Given the description of an element on the screen output the (x, y) to click on. 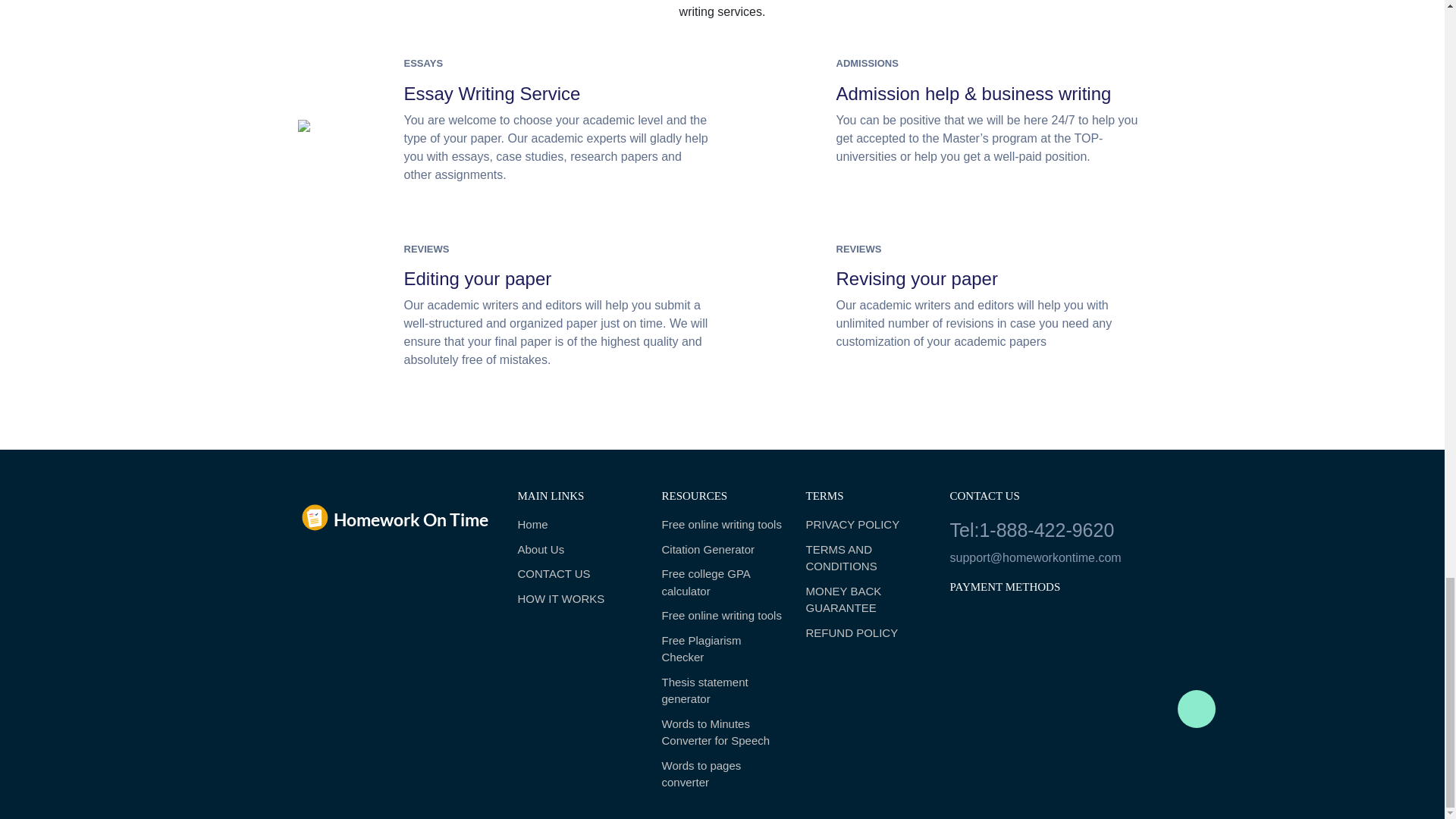
Thesis statement generator (722, 691)
Words to Minutes Converter for Speech (722, 732)
TERMS AND CONDITIONS (865, 558)
Words to pages converter (722, 774)
MONEY BACK GUARANTEE (865, 600)
Free online writing tools (722, 615)
About Us (577, 549)
CONTACT US (577, 574)
Home (577, 524)
Free college GPA calculator (722, 582)
HOW IT WORKS (577, 599)
Citation Generator (722, 549)
Free Plagiarism Checker (722, 649)
Free online writing tools (722, 524)
REFUND POLICY (865, 633)
